Given the description of an element on the screen output the (x, y) to click on. 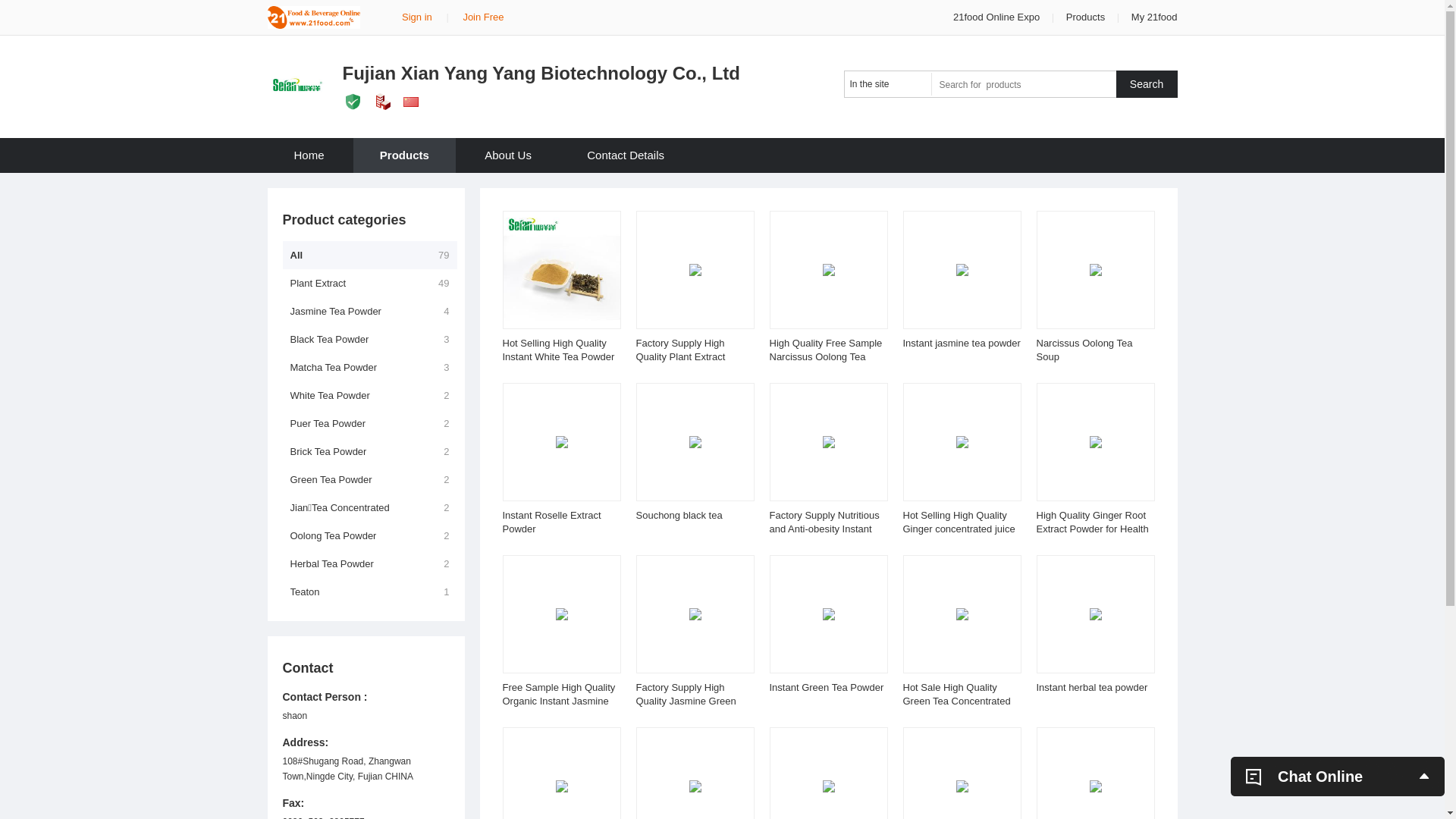
Souchong black tea Element type: text (678, 514)
Instant herbal tea powder Element type: text (1091, 687)
High Quality Ginger Root Extract Powder for Health Care Element type: text (1091, 528)
Sign in Element type: text (416, 16)
21food Online Expo Element type: text (997, 16)
Products Element type: text (1085, 16)
Home Element type: text (308, 155)
Search Element type: text (1146, 83)
Factory Supply High Quality Jasmine Green Tea Concentrate Element type: text (685, 700)
Narcissus Oolong Tea Soup Element type: text (1083, 349)
About Us Element type: text (508, 155)
Products Element type: text (404, 155)
Instant Green Tea Powder Element type: text (825, 687)
Join Free Element type: text (482, 16)
My 21food Element type: text (1154, 16)
Contact Details Element type: text (625, 155)
Hot Selling High Quality Ginger concentrated juice for Food Element type: text (958, 528)
Instant Roselle Extract Powder Element type: text (551, 521)
Instant jasmine tea powder Element type: text (960, 342)
